Given the description of an element on the screen output the (x, y) to click on. 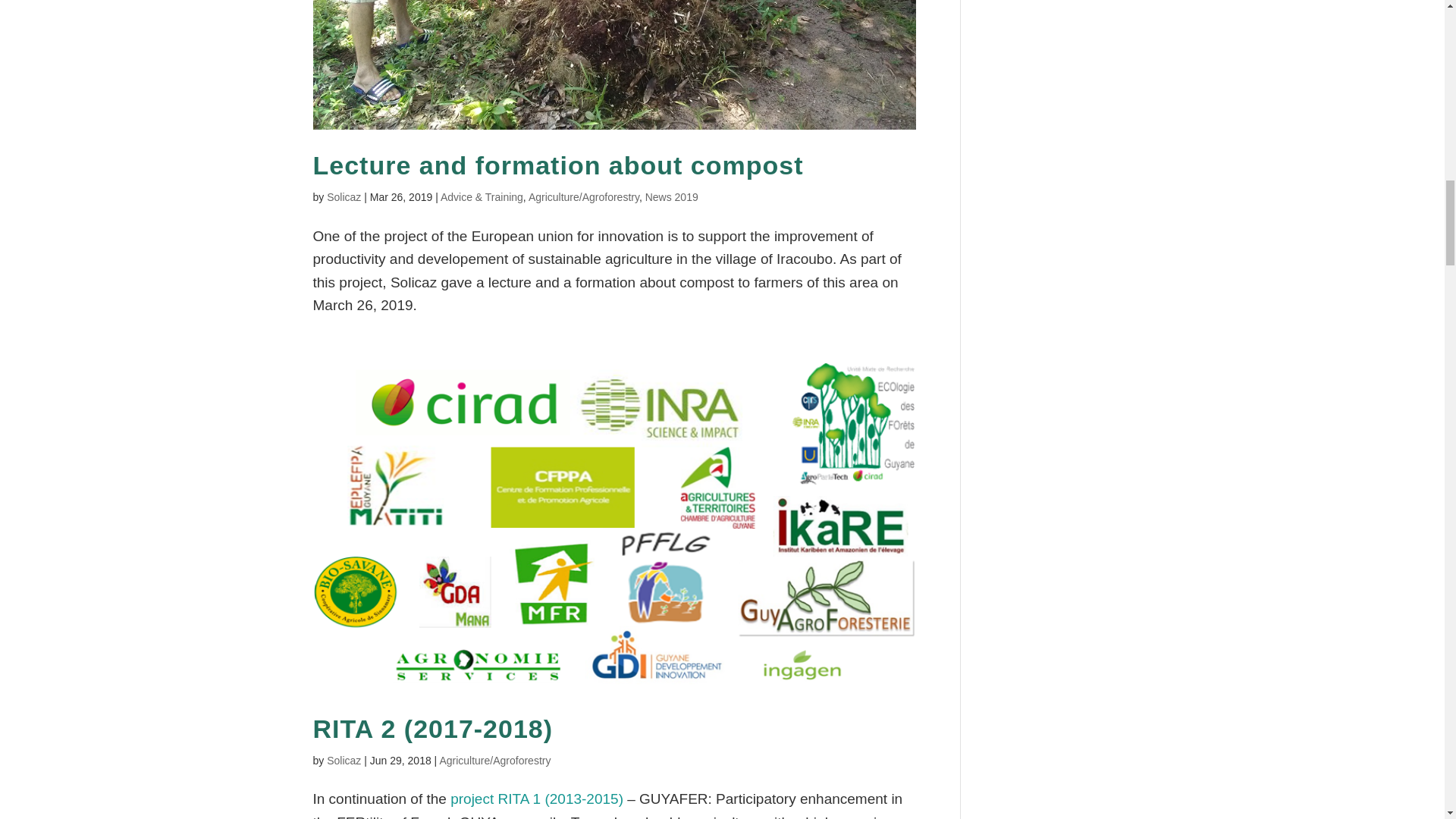
Lecture and formation about compost (558, 164)
Solicaz (343, 760)
Posts by Solicaz (343, 760)
Solicaz (343, 196)
Posts by Solicaz (343, 196)
News 2019 (671, 196)
